Given the description of an element on the screen output the (x, y) to click on. 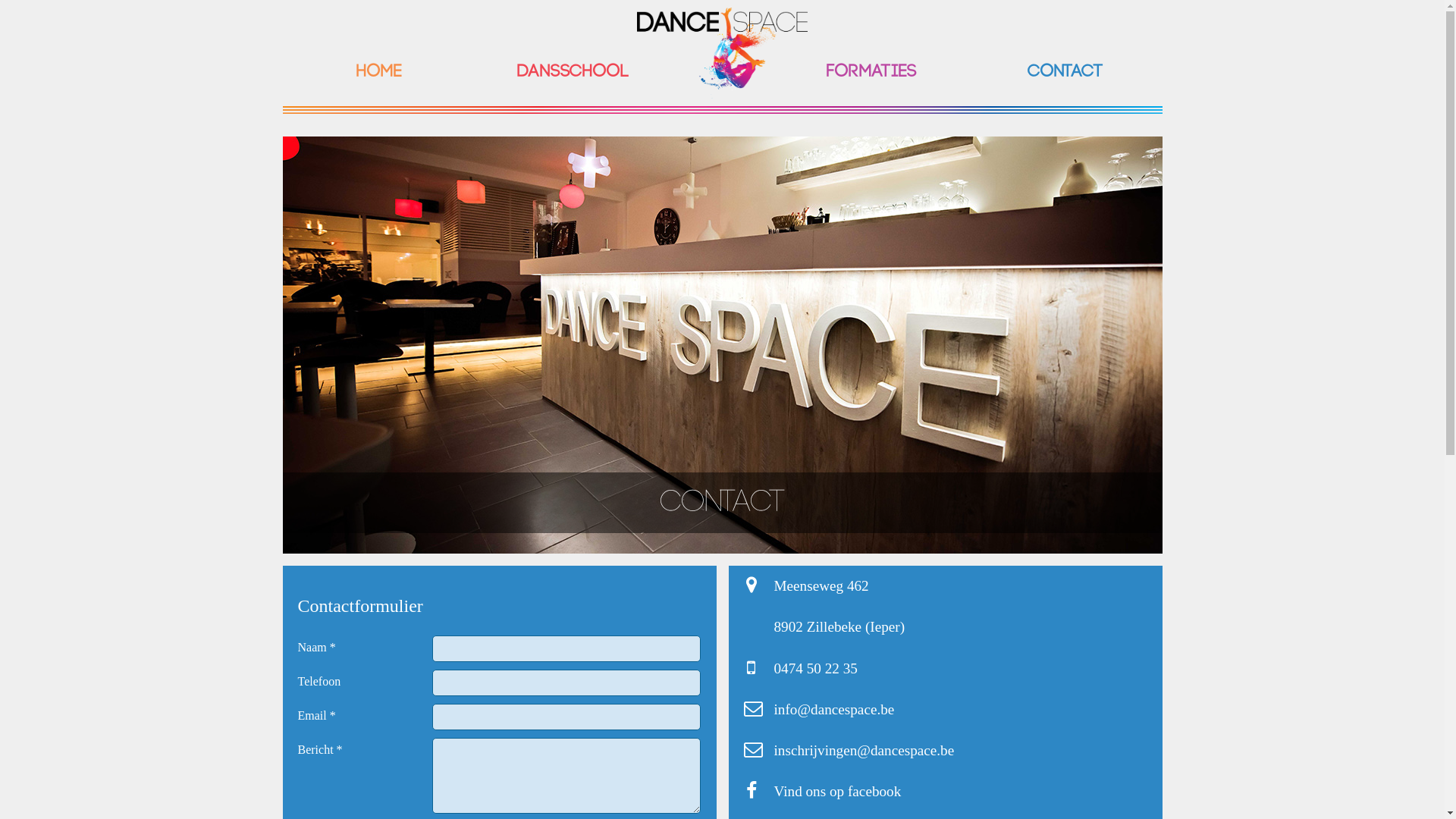
Dansschool Element type: text (572, 72)
inschrijvingen@dancespace.be Element type: text (863, 750)
Vind ons op facebook Element type: text (836, 791)
Formaties Element type: text (871, 72)
Contact Element type: text (1064, 72)
info@dancespace.be Element type: text (833, 709)
Home Element type: text (378, 72)
